Given the description of an element on the screen output the (x, y) to click on. 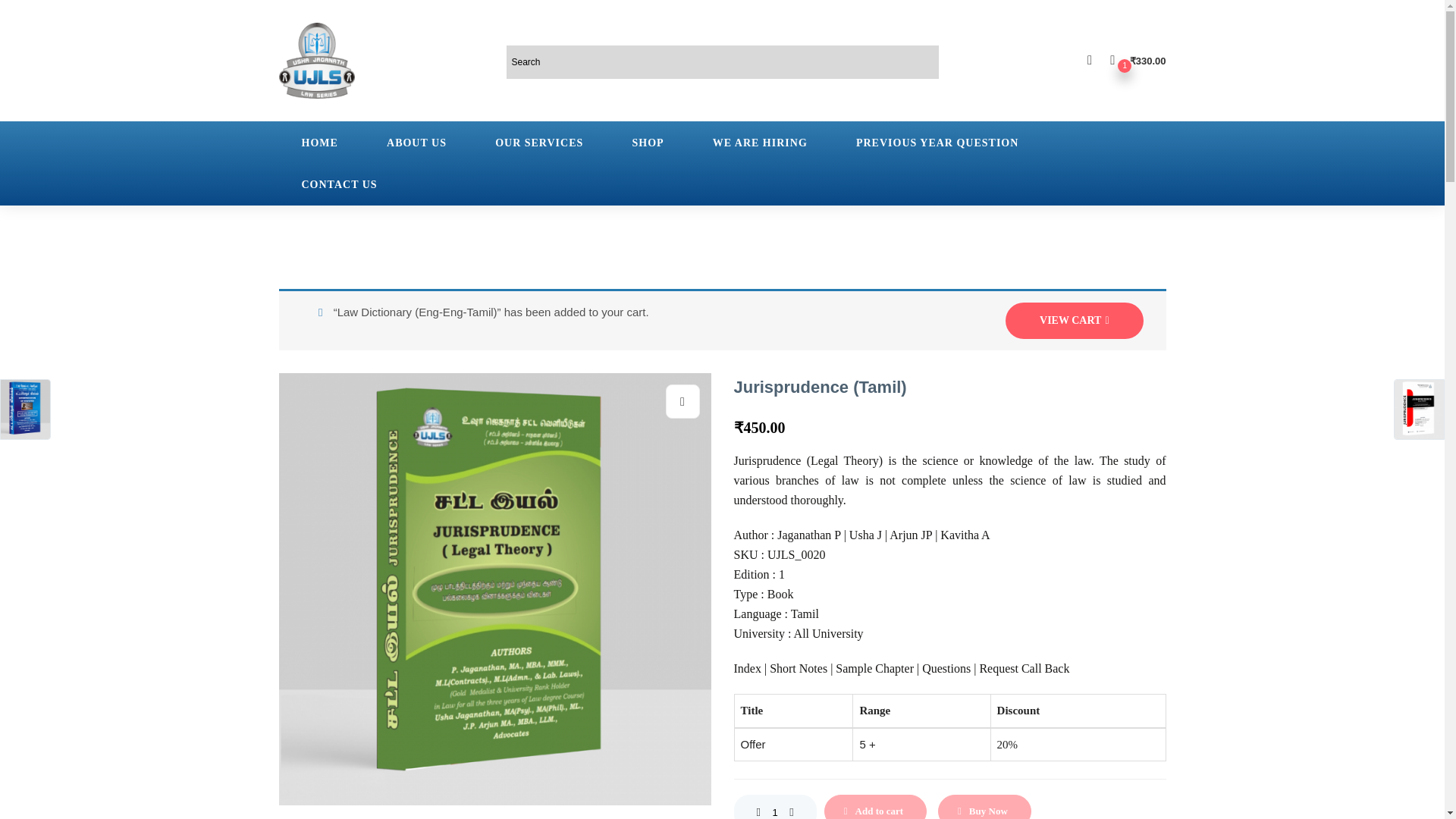
1 (774, 807)
Qty (774, 807)
View your shopping cart (1137, 60)
